Given the description of an element on the screen output the (x, y) to click on. 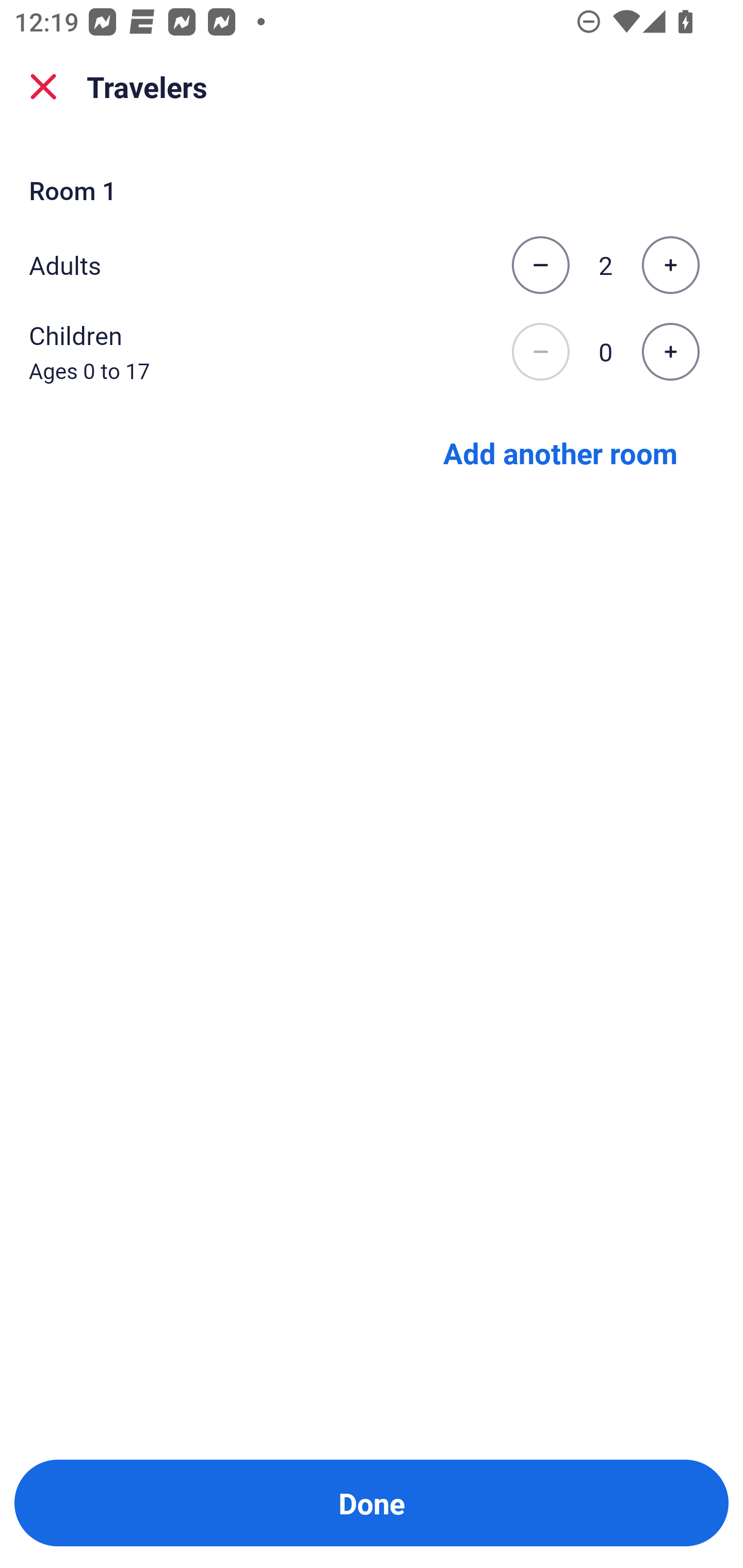
close (43, 86)
Decrease the number of adults (540, 264)
Increase the number of adults (670, 264)
Decrease the number of children (540, 351)
Increase the number of children (670, 351)
Add another room (560, 452)
Done (371, 1502)
